Given the description of an element on the screen output the (x, y) to click on. 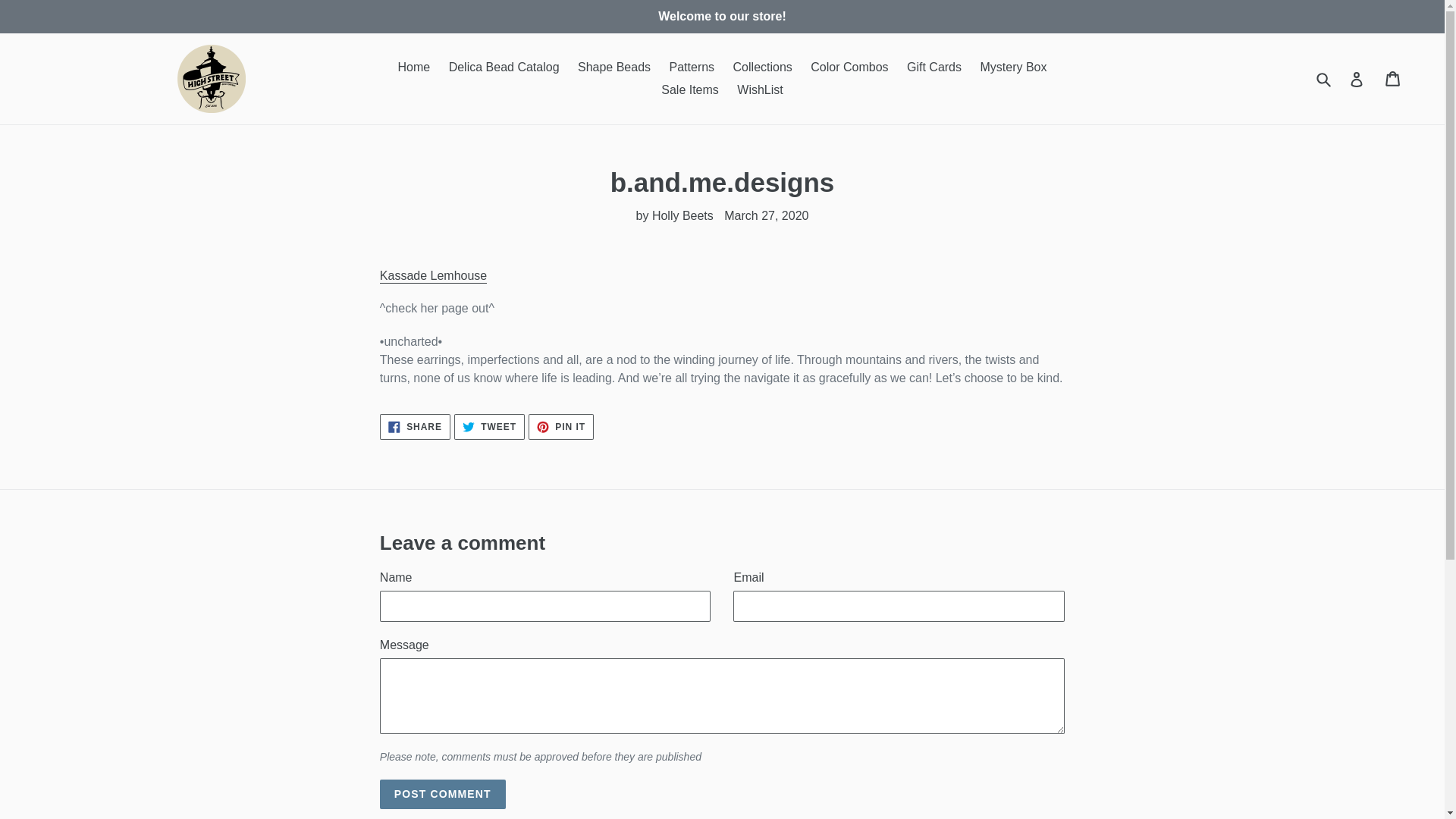
Log in (1356, 78)
Mystery Box (1013, 67)
Post comment (561, 426)
Kassade Lemhouse (442, 794)
Delica Bead Catalog (433, 276)
Gift Cards (504, 67)
Submit (934, 67)
Shape Beads (1324, 78)
Edited (614, 67)
